Given the description of an element on the screen output the (x, y) to click on. 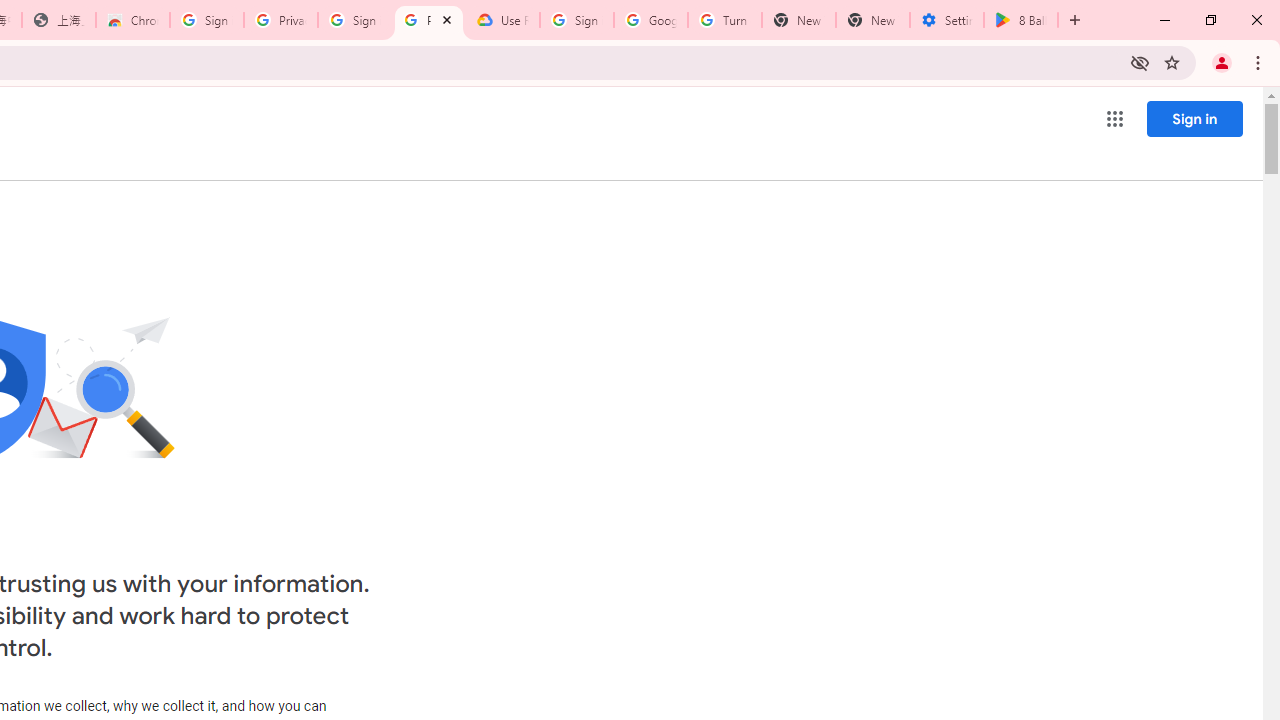
Settings - System (947, 20)
Google Account Help (651, 20)
Sign in - Google Accounts (577, 20)
New Tab (872, 20)
Chrome Web Store - Color themes by Chrome (133, 20)
